Given the description of an element on the screen output the (x, y) to click on. 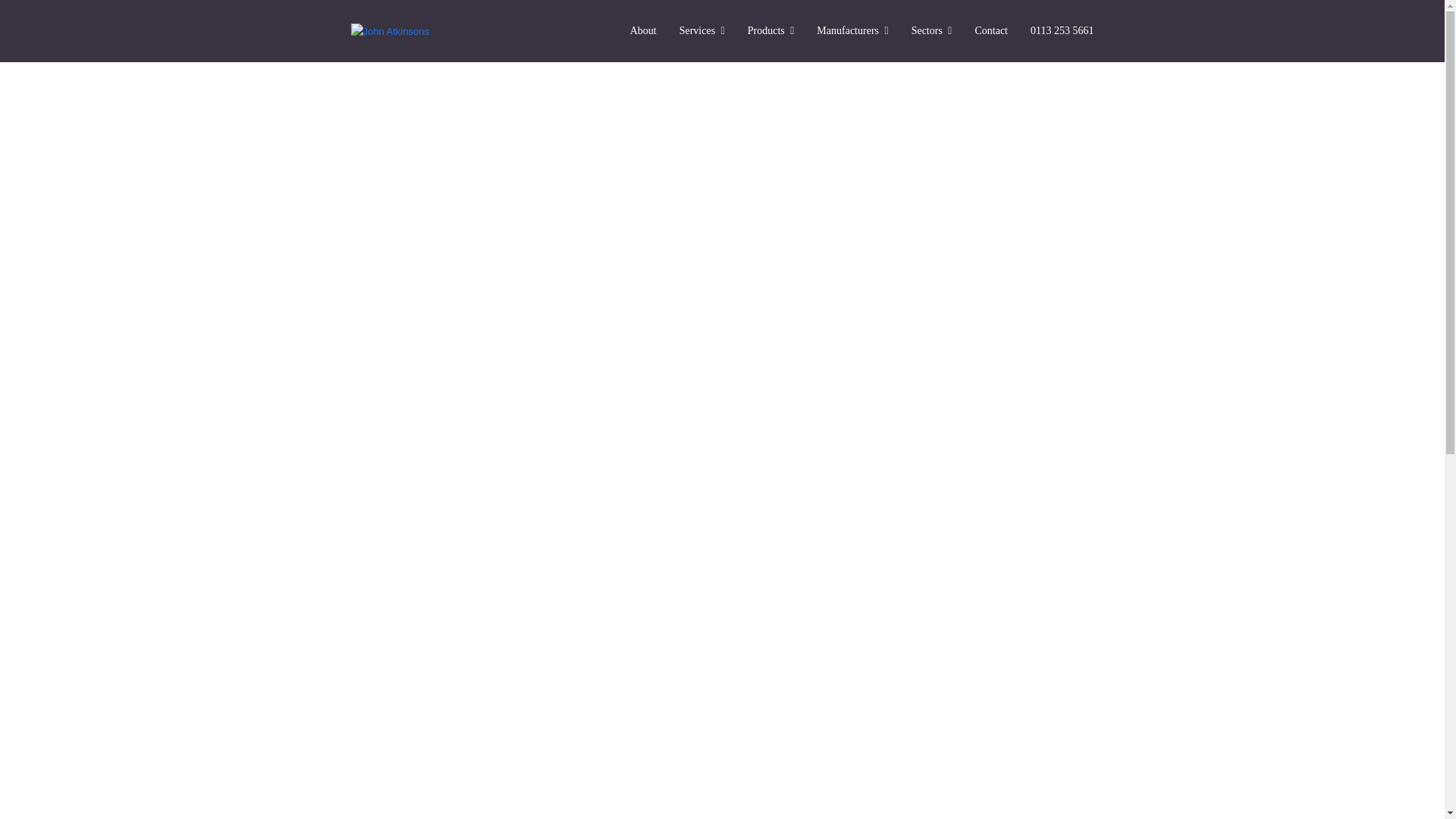
Services (702, 30)
0113 253 5661 (1062, 30)
Contact (990, 30)
About (643, 30)
Products (771, 30)
Manufacturers (852, 30)
Sectors (931, 30)
